Given the description of an element on the screen output the (x, y) to click on. 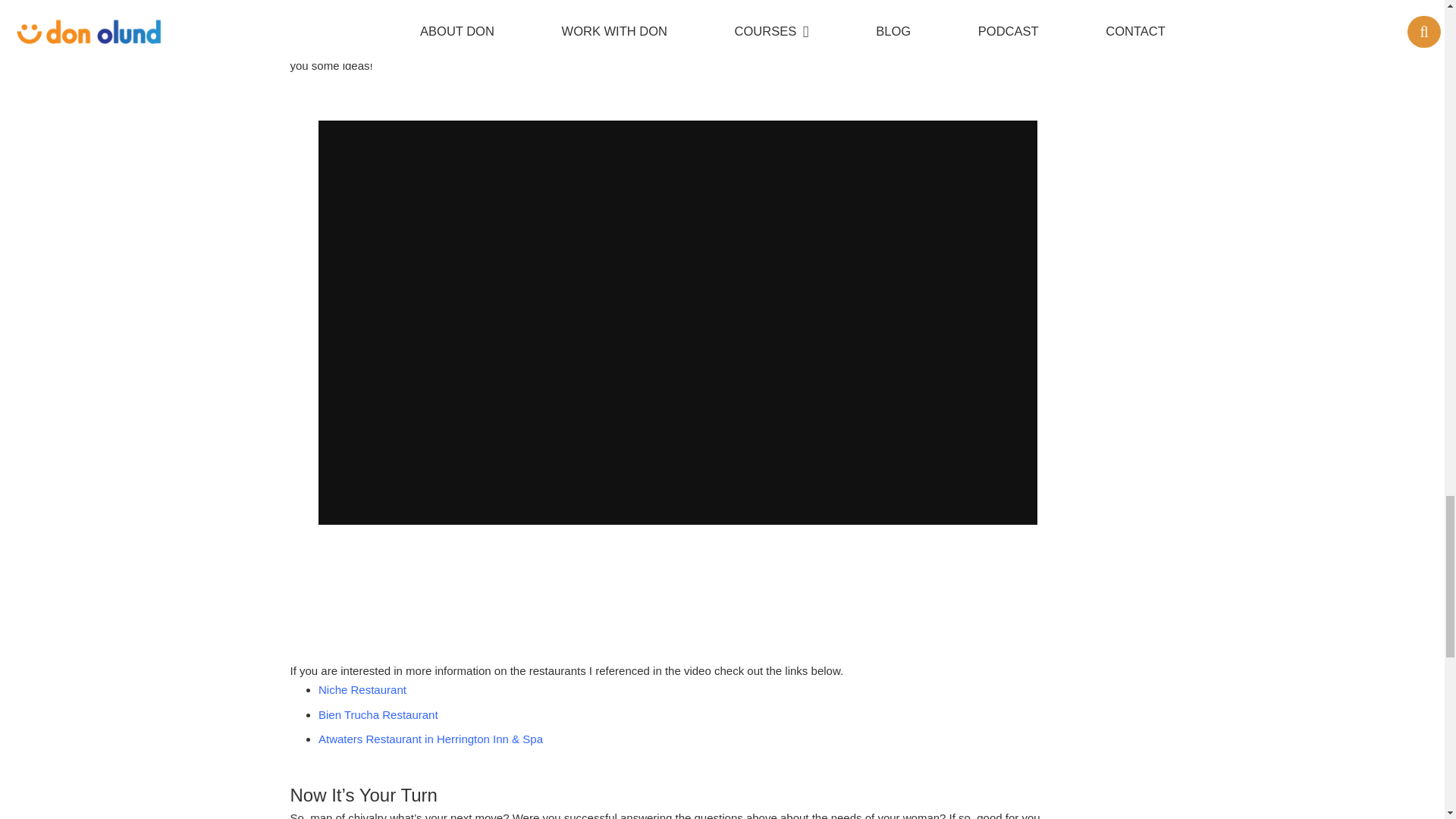
Atwaters Restaurant (430, 738)
Niche Restaurant (362, 689)
Bien Trucha Restaurant (378, 714)
Bien Trucha Restaurant (378, 714)
Niche Restaurant (362, 689)
